Given the description of an element on the screen output the (x, y) to click on. 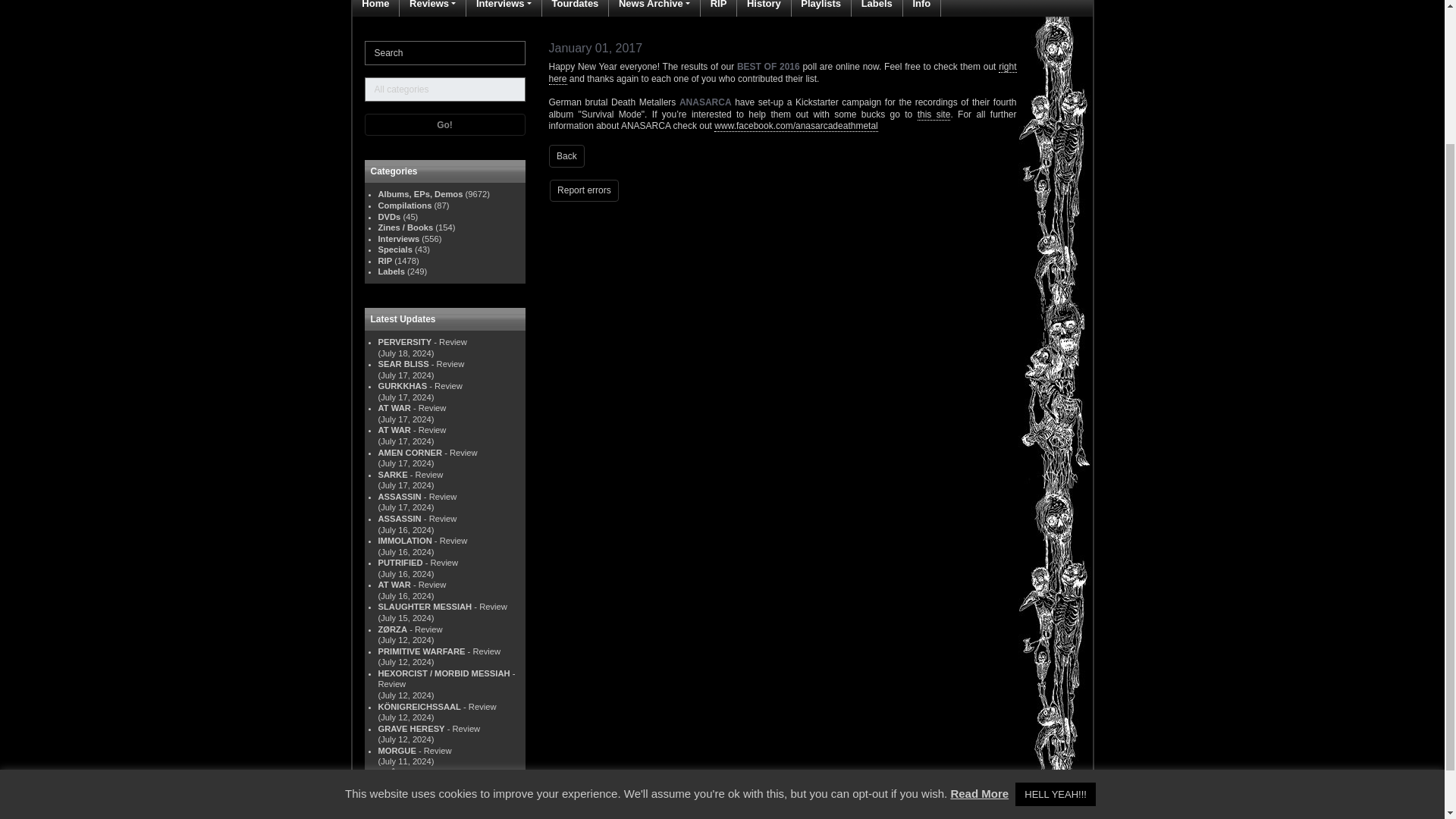
Reviews (432, 8)
RIP (718, 8)
Home (374, 8)
History (764, 8)
Interviews (503, 8)
News Archive (653, 8)
Tourdates (574, 8)
